Given the description of an element on the screen output the (x, y) to click on. 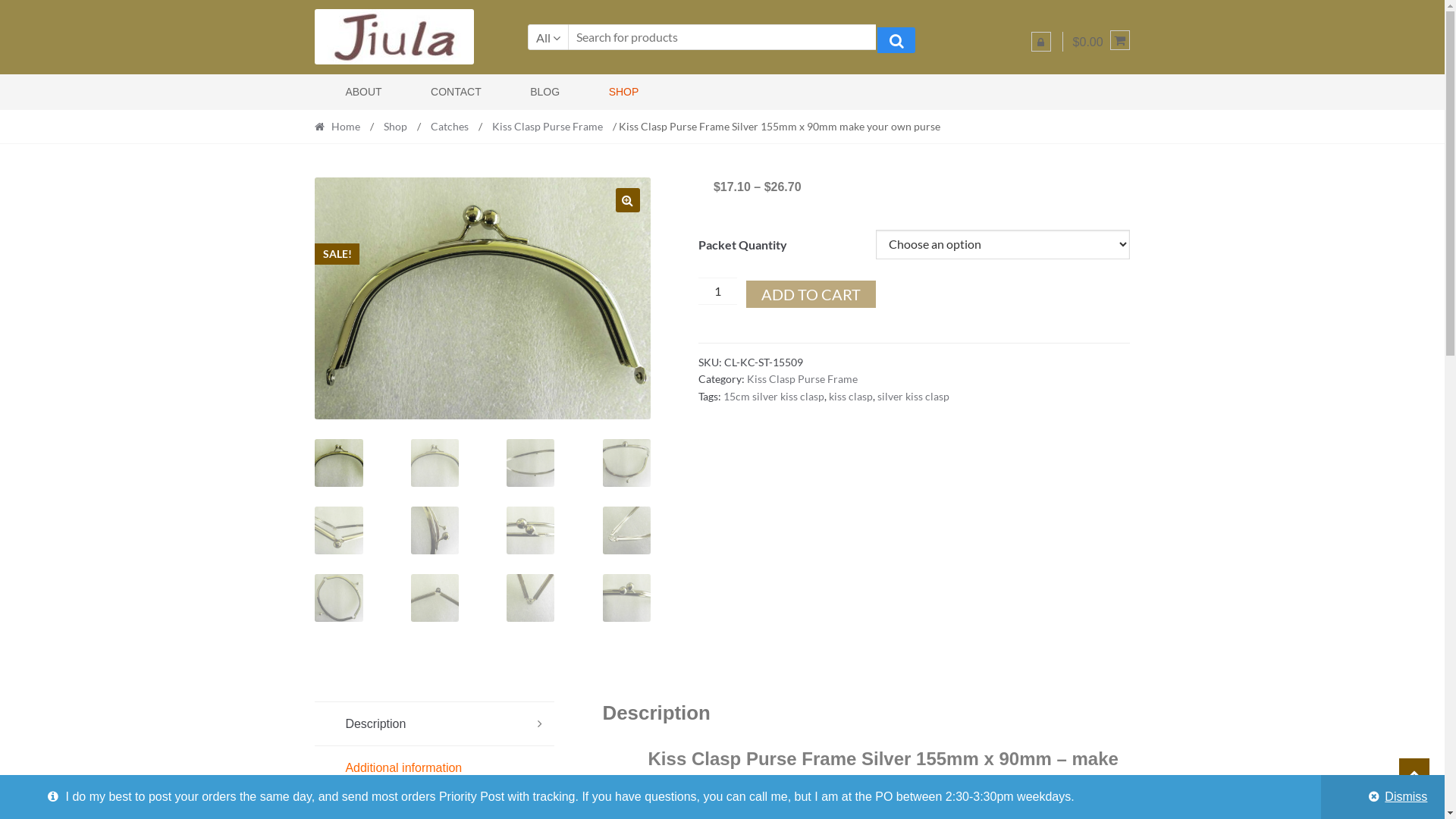
1-23.jpg Element type: hover (817, 298)
Description Element type: text (434, 724)
Qty Element type: hover (717, 290)
Home Element type: text (340, 125)
Login / Register Element type: hover (1041, 41)
ADD TO CART Element type: text (810, 293)
Catches Element type: text (449, 125)
kiss clasp Element type: text (850, 395)
SHOP Element type: text (607, 91)
15cm silver kiss clasp Element type: text (773, 395)
Shop Element type: text (395, 125)
silver kiss clasp Element type: text (913, 395)
Kiss Clasp Purse Frame Element type: text (801, 378)
Kiss Clasp Purse Frame Element type: text (547, 125)
1-22.jpg Element type: hover (481, 298)
ABOUT Element type: text (352, 91)
BLOG Element type: text (529, 91)
CONTACT Element type: text (440, 91)
$0.00 Element type: text (1101, 42)
Additional information Element type: text (434, 768)
